Given the description of an element on the screen output the (x, y) to click on. 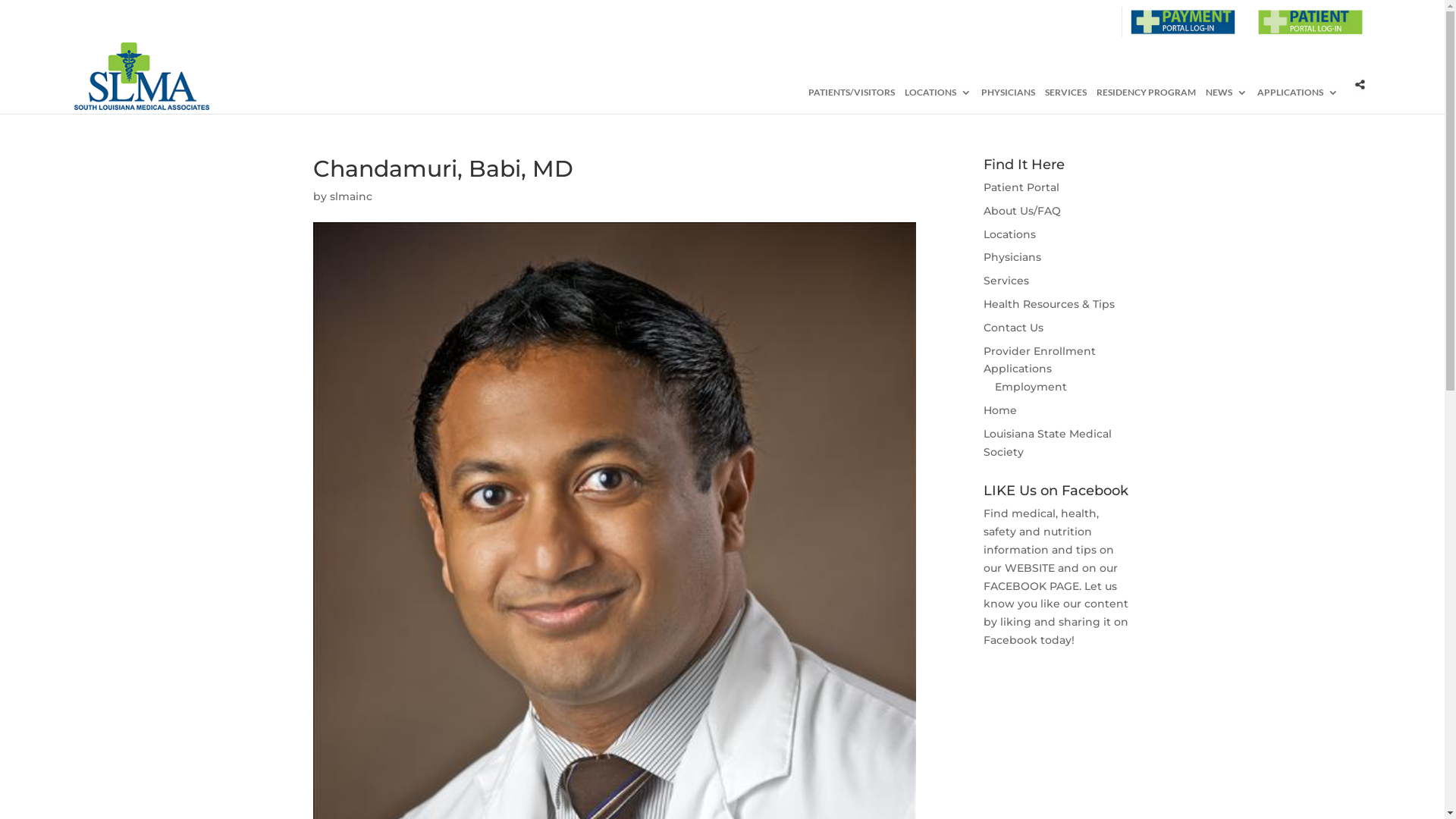
FACEBOOK PAGE Element type: text (1031, 586)
PHYSICIANS Element type: text (1008, 98)
SERVICES Element type: text (1065, 98)
Physicians Element type: text (1012, 256)
Louisiana State Medical Society Element type: text (1047, 442)
Services Element type: text (1006, 280)
PATIENTS/VISITORS Element type: text (851, 98)
WEBSITE Element type: text (1029, 567)
LOCATIONS Element type: text (937, 98)
slmainc Element type: text (350, 196)
Provider Enrollment Applications Element type: text (1039, 360)
Contact Us Element type: text (1013, 327)
APPLICATIONS Element type: text (1297, 98)
Locations Element type: text (1009, 234)
NEWS Element type: text (1226, 98)
Employment Element type: text (1030, 386)
RESIDENCY PROGRAM Element type: text (1145, 98)
Health Resources & Tips Element type: text (1048, 303)
Home Element type: text (999, 410)
Patient Portal Element type: text (1021, 187)
About Us/FAQ Element type: text (1021, 210)
